Given the description of an element on the screen output the (x, y) to click on. 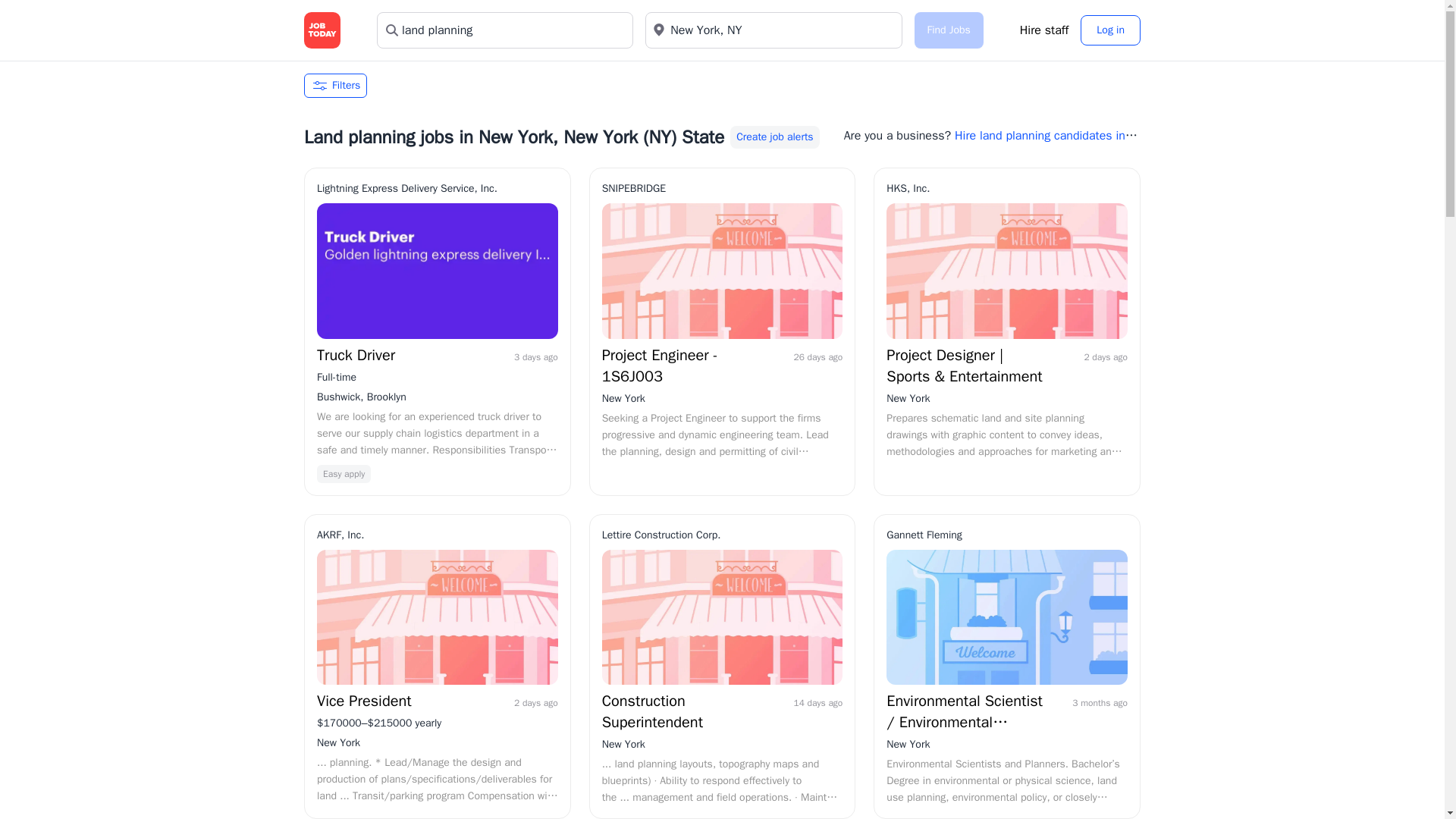
New York, NY (773, 30)
Hire staff (1044, 29)
Filters (335, 85)
New York, NY (773, 30)
land planning (505, 30)
Job Search and Hiring at JOB TODAY (322, 30)
land planning (505, 30)
Hire land planning candidates in New York, NY (990, 144)
Filters (722, 85)
Find Jobs (948, 30)
